Given the description of an element on the screen output the (x, y) to click on. 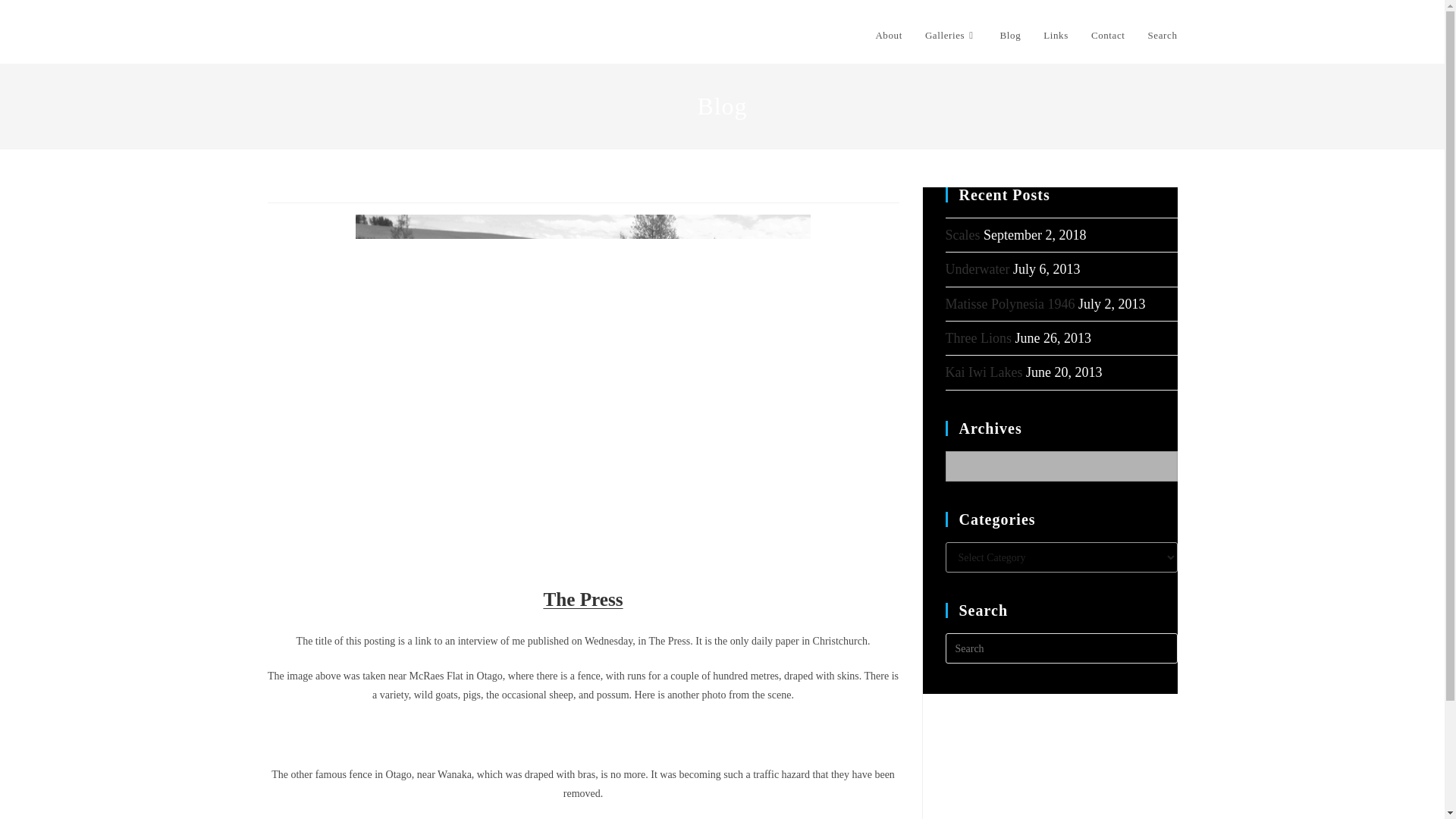
About (888, 35)
Galleries (951, 35)
Contact (1108, 35)
The Press (583, 602)
Scales (961, 234)
Peter Peryer (315, 34)
Search (1163, 35)
